Given the description of an element on the screen output the (x, y) to click on. 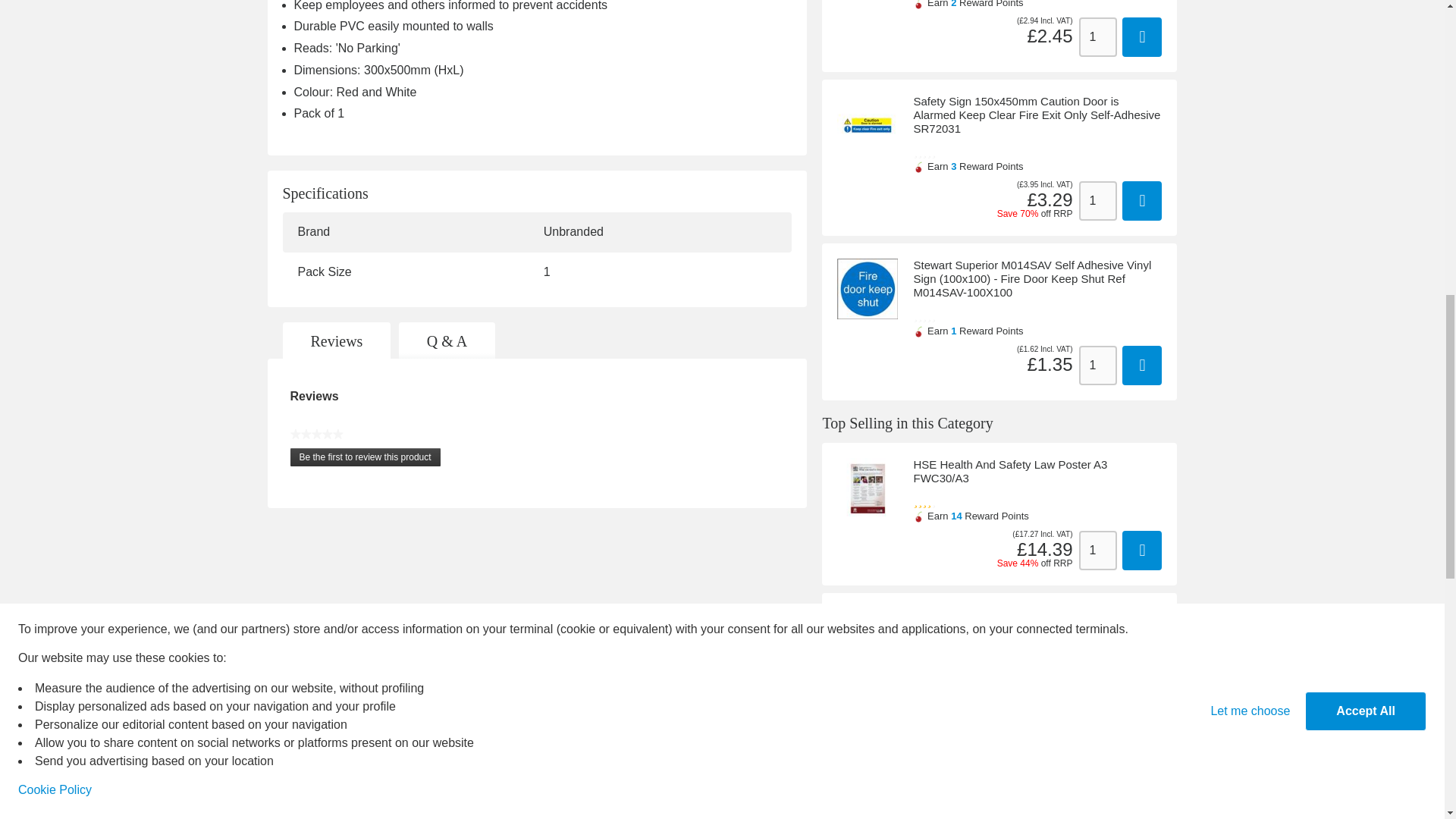
1 (1097, 687)
1 (1097, 36)
1 (1097, 550)
1 (1097, 364)
1 (1097, 200)
